Given the description of an element on the screen output the (x, y) to click on. 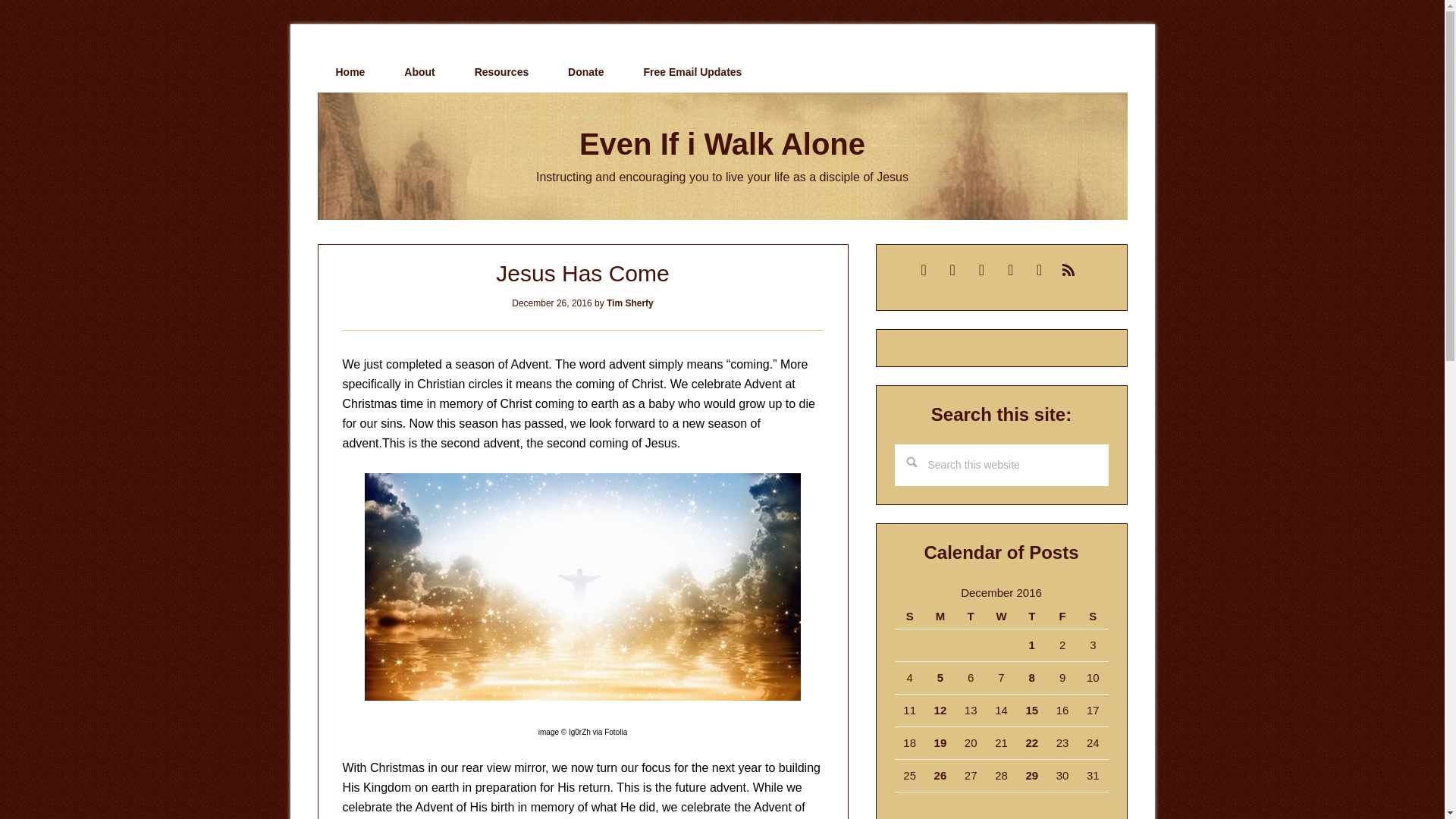
Default Label (952, 268)
Instagram (1039, 268)
twitter (981, 268)
Default Label (1068, 268)
Twitter (981, 268)
facebook (1010, 268)
instagram (1039, 268)
rss (1068, 268)
Donate (585, 71)
Sunday (909, 616)
Resources (502, 71)
Free Email Updates (692, 71)
About (418, 71)
mail (923, 268)
